Given the description of an element on the screen output the (x, y) to click on. 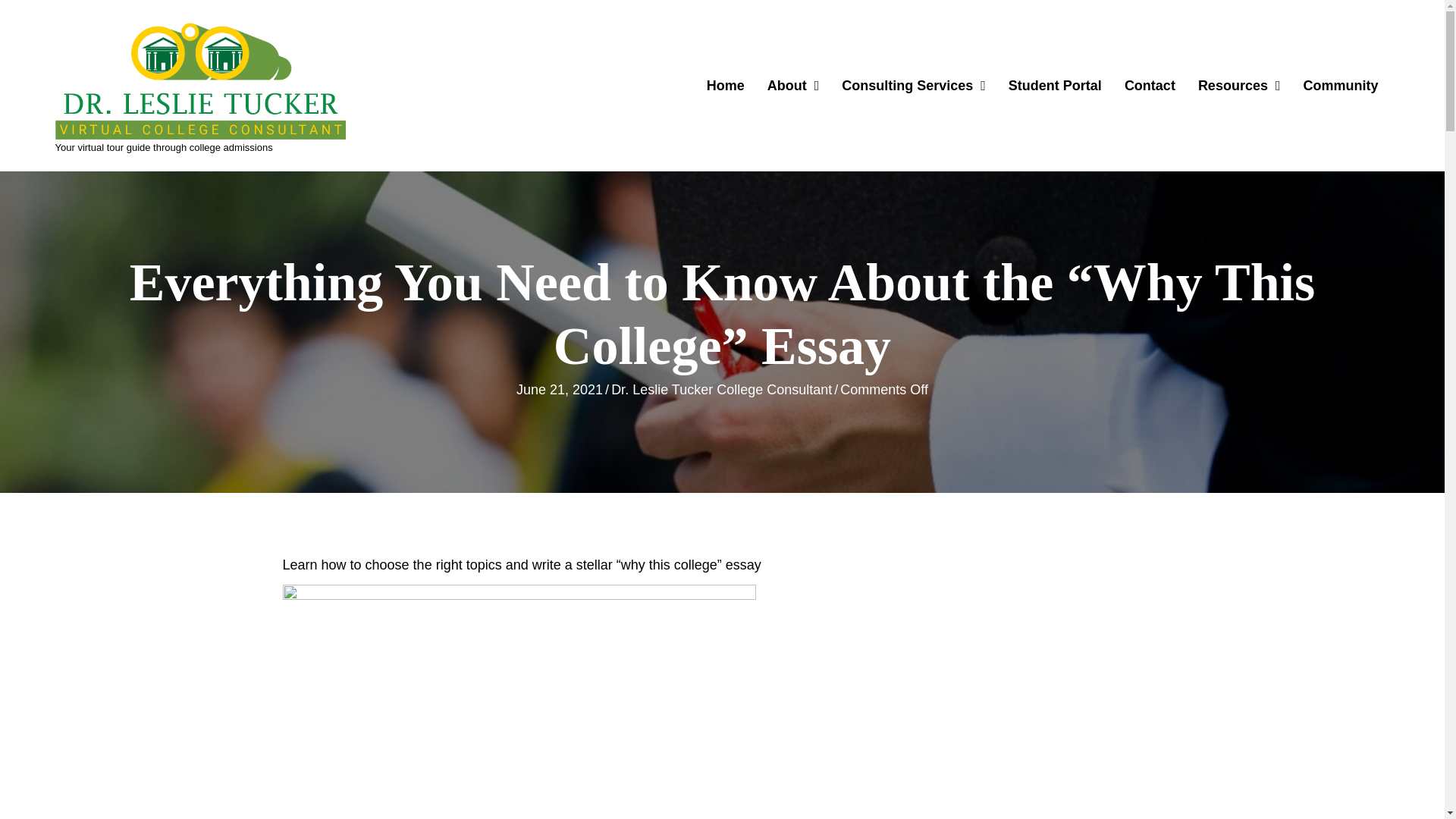
Consulting Services (913, 85)
Contact (1149, 85)
Student Portal (1055, 85)
Home (725, 85)
About (793, 85)
Resources (1239, 85)
Dr. Leslie Tucker (200, 80)
Dr. Leslie Tucker College Consultant (721, 389)
Community (1340, 85)
